Given the description of an element on the screen output the (x, y) to click on. 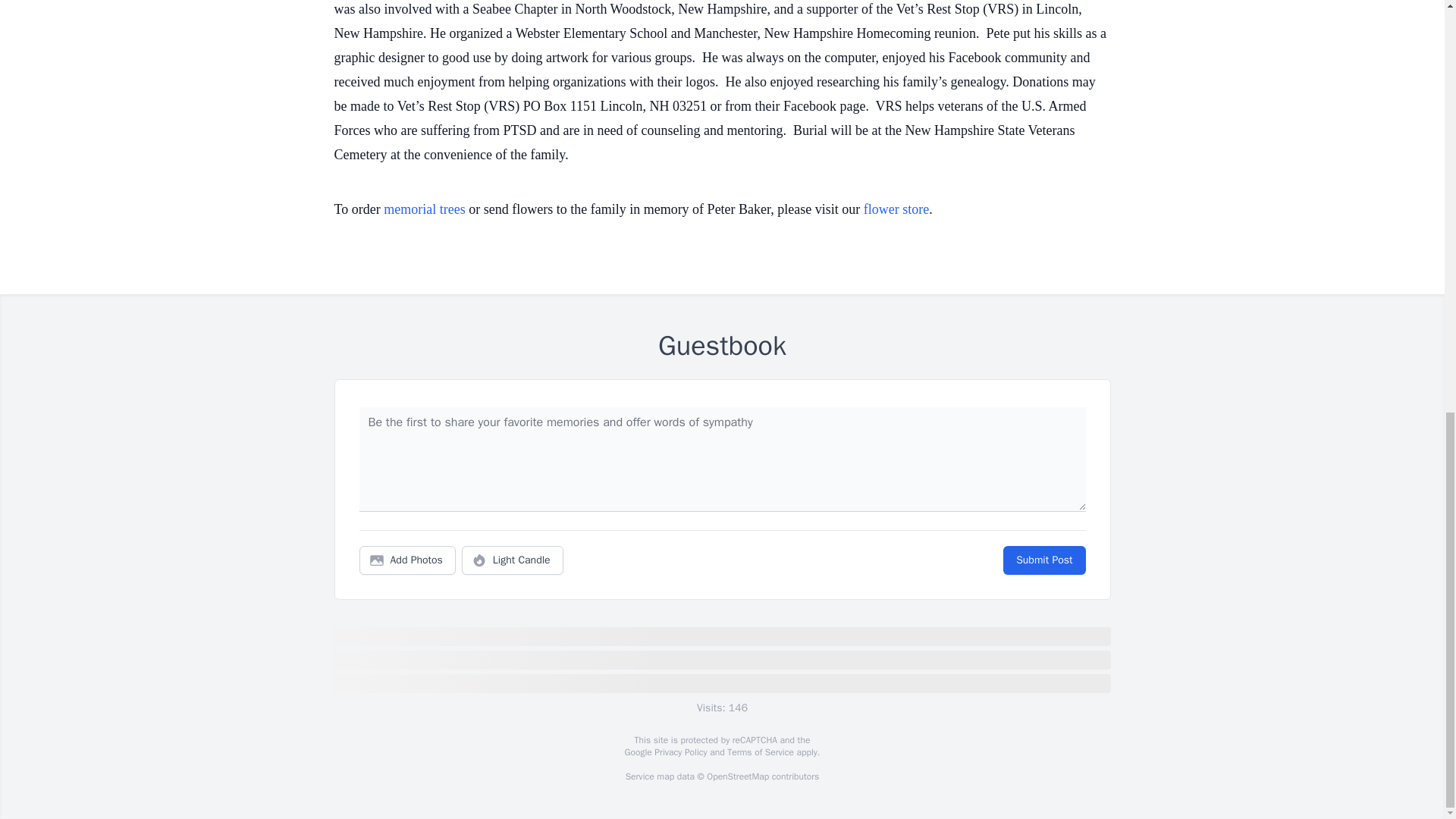
memorial trees (424, 209)
Add Photos (407, 560)
Submit Post (1043, 560)
Privacy Policy (679, 752)
Light Candle (512, 560)
OpenStreetMap (737, 776)
Terms of Service (759, 752)
flower store (895, 209)
